Given the description of an element on the screen output the (x, y) to click on. 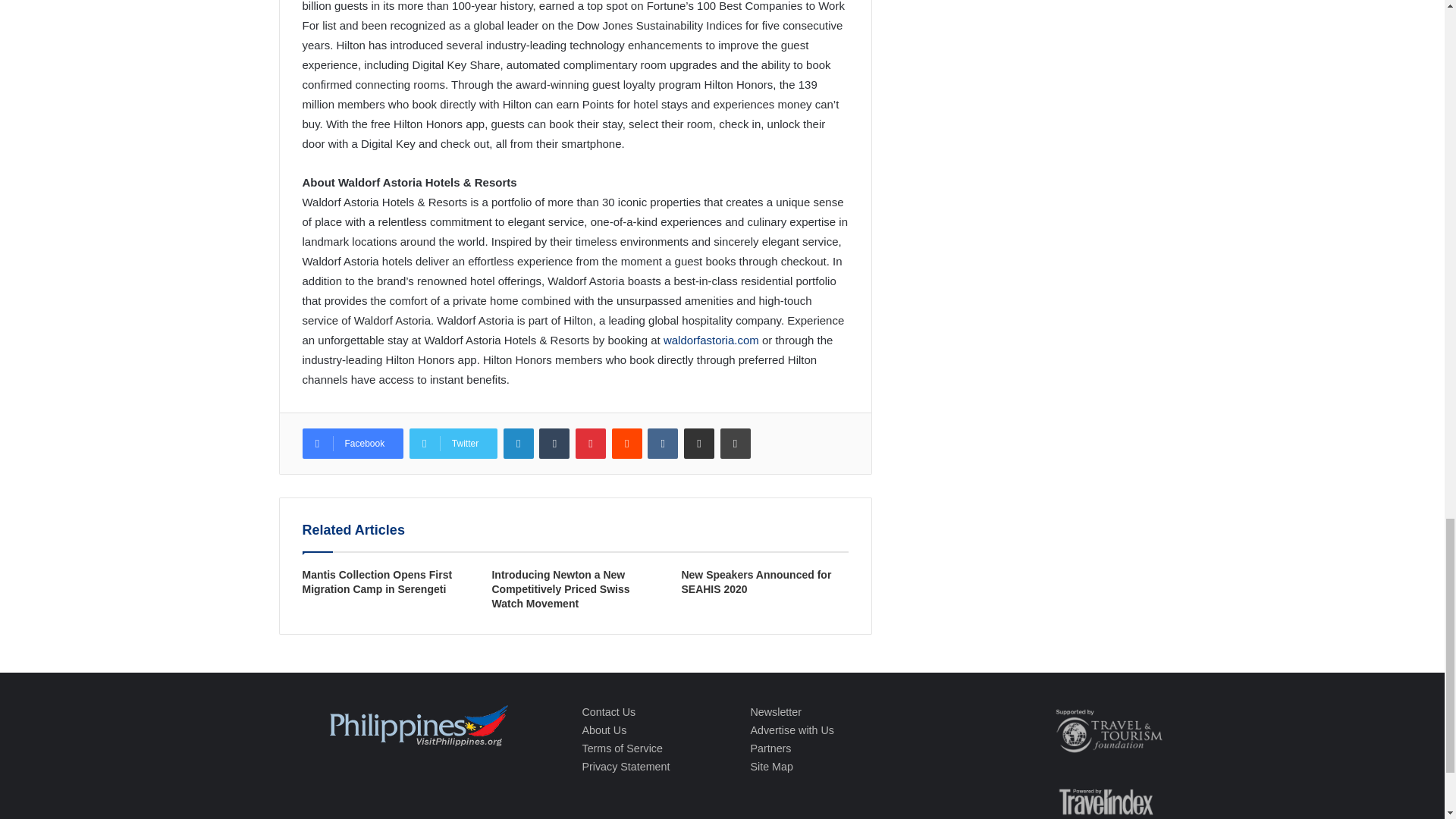
Twitter (453, 443)
LinkedIn (518, 443)
VKontakte (662, 443)
Reddit (626, 443)
Pinterest (590, 443)
Print (735, 443)
Facebook (352, 443)
Tumblr (553, 443)
Share via Email (699, 443)
